Given the description of an element on the screen output the (x, y) to click on. 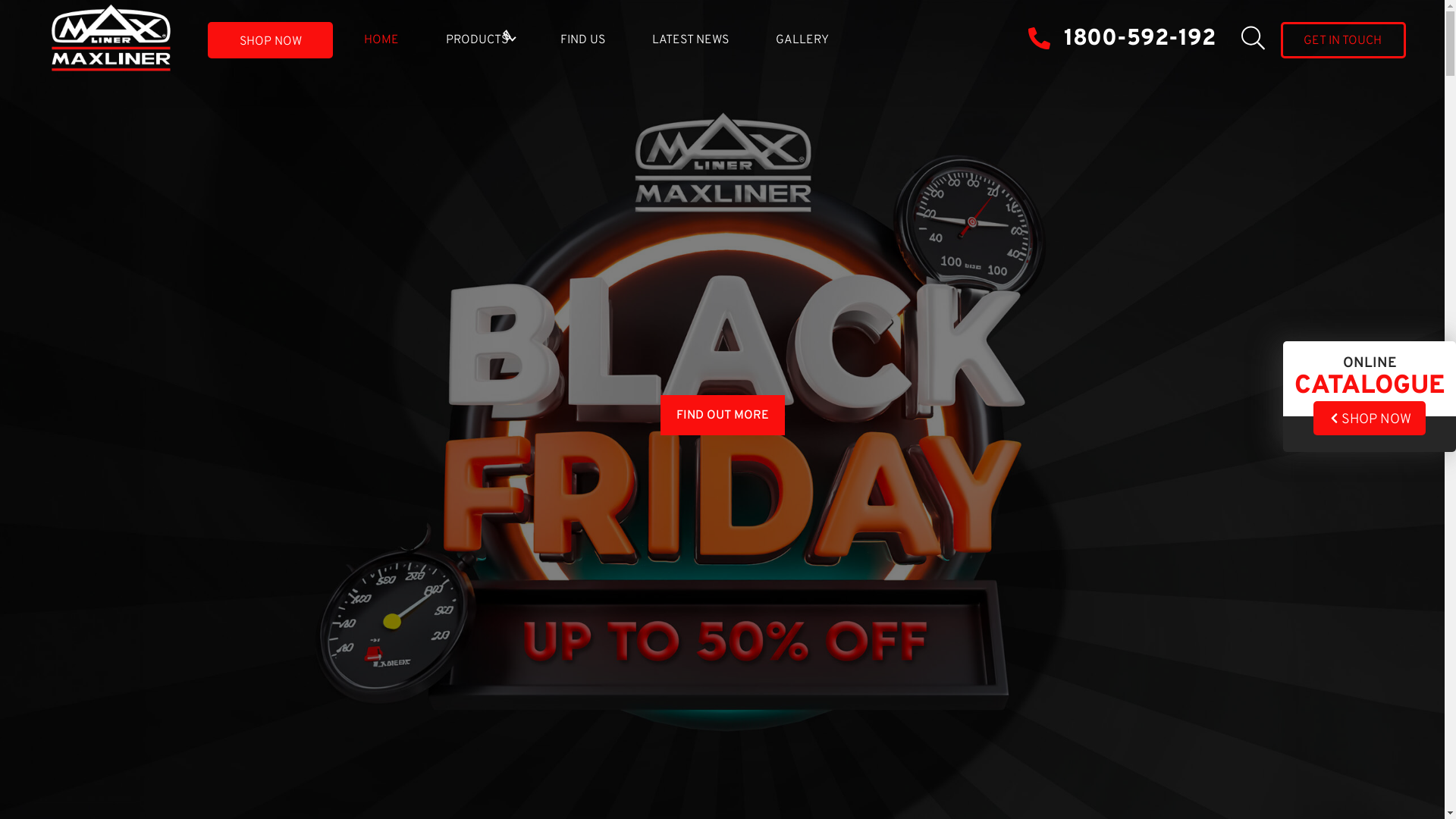
SHOP NOW Element type: text (269, 39)
FIND OUT MORE Element type: text (721, 415)
GALLERY Element type: text (801, 39)
SHOP NOW Element type: text (1369, 418)
PRODUCTS Element type: text (476, 39)
LATEST NEWS Element type: text (690, 39)
GET IN TOUCH Element type: text (1342, 39)
FIND US Element type: text (582, 39)
HOME Element type: text (381, 39)
1800-592-192 Element type: text (1121, 40)
